Given the description of an element on the screen output the (x, y) to click on. 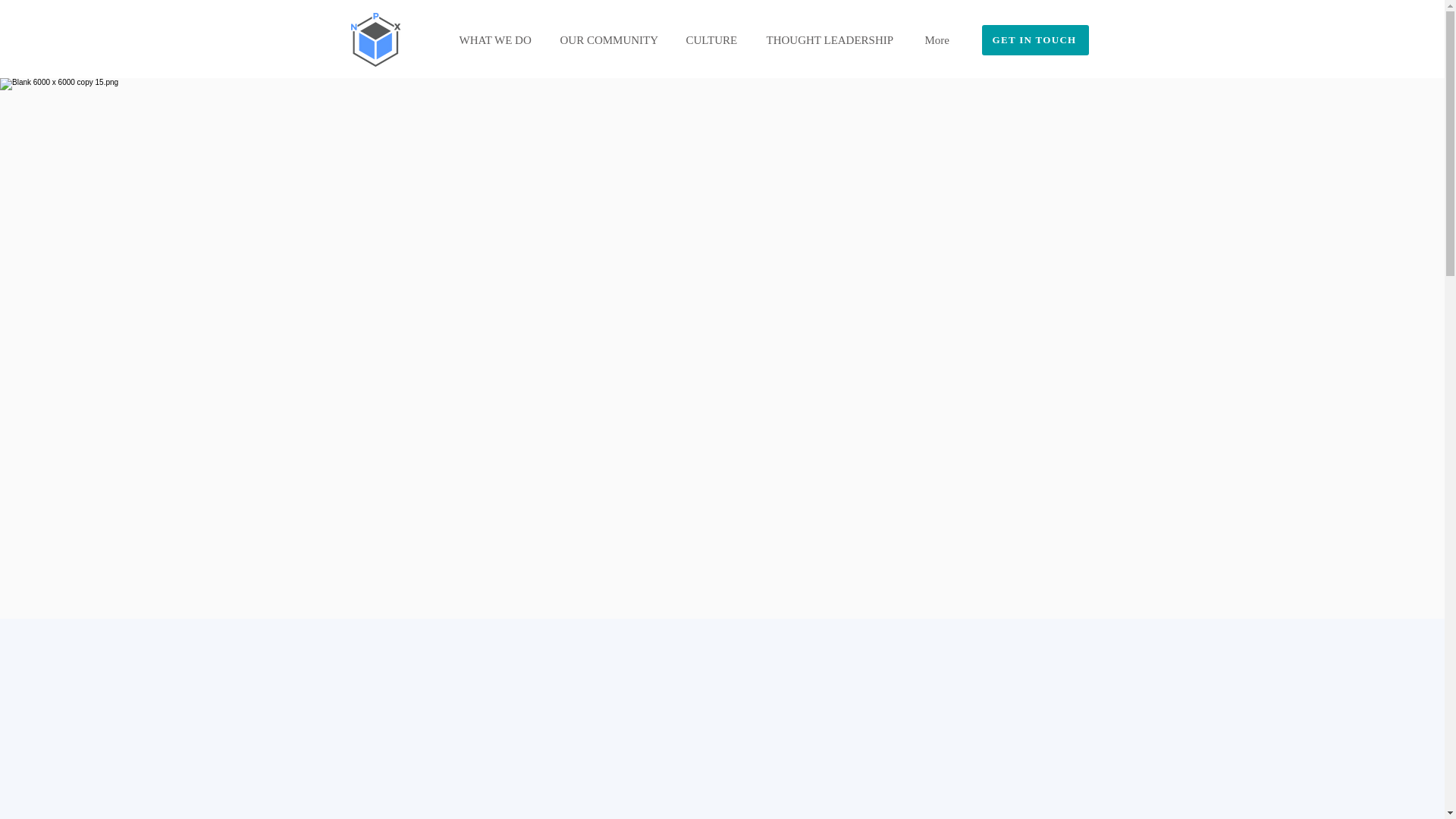
THOUGHT LEADERSHIP (834, 39)
GET IN TOUCH (1034, 40)
